Given the description of an element on the screen output the (x, y) to click on. 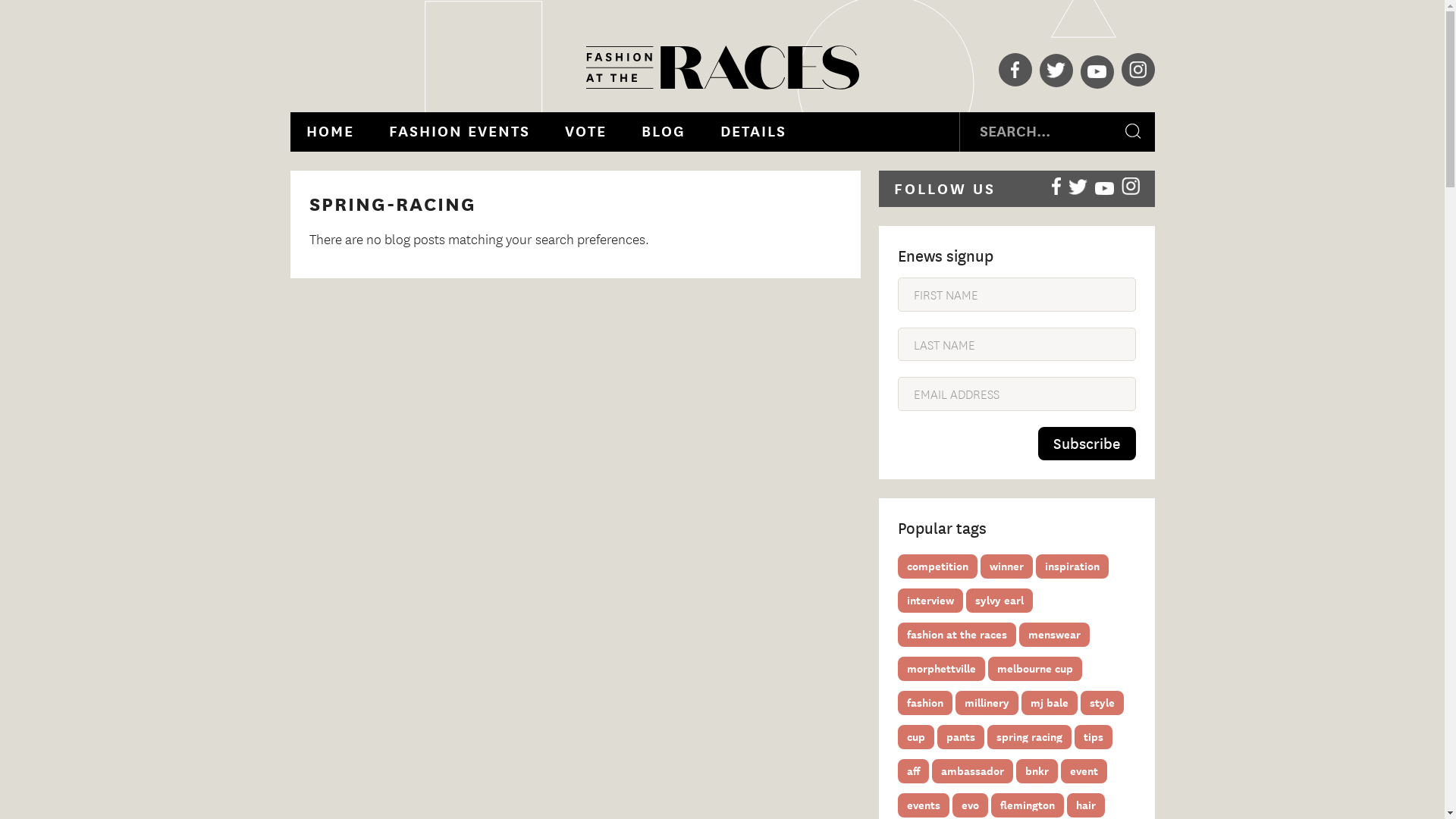
aff Element type: text (912, 771)
sylvy earl Element type: text (999, 600)
mj bale Element type: text (1048, 702)
style Element type: text (1101, 702)
bnkr Element type: text (1036, 771)
fashion Element type: text (924, 702)
FASHION EVENTS Element type: text (459, 131)
spring racing Element type: text (1029, 736)
winner Element type: text (1005, 566)
VOTE Element type: text (585, 131)
pants Element type: text (960, 736)
BLOG Element type: text (662, 131)
event Element type: text (1083, 771)
evo Element type: text (970, 805)
Search Element type: text (1133, 131)
ambassador Element type: text (971, 771)
menswear Element type: text (1054, 634)
flemington Element type: text (1026, 805)
hair Element type: text (1085, 805)
tips Element type: text (1092, 736)
cup Element type: text (915, 736)
events Element type: text (923, 805)
inspiration Element type: text (1071, 566)
competition Element type: text (937, 566)
millinery Element type: text (986, 702)
fashion at the races Element type: text (956, 634)
melbourne cup Element type: text (1034, 668)
HOME Element type: text (329, 131)
interview Element type: text (930, 600)
morphettville Element type: text (941, 668)
DETAILS Element type: text (752, 131)
Subscribe Element type: text (1086, 443)
